Given the description of an element on the screen output the (x, y) to click on. 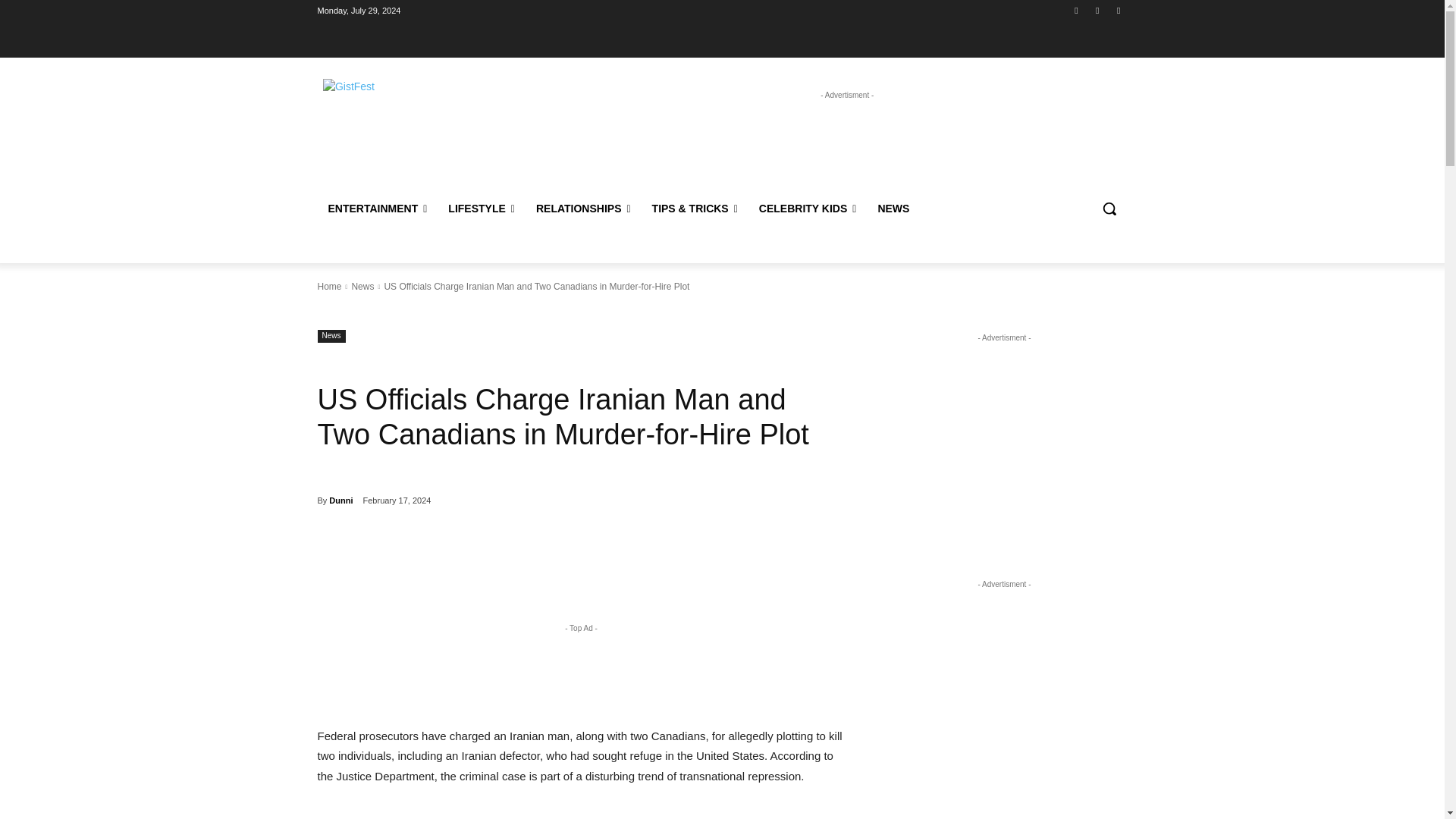
Twitter (1117, 9)
Facebook (1075, 9)
ENTERTAINMENT (377, 208)
LIFESTYLE (481, 208)
Gistfest (425, 112)
Gistfest (426, 112)
Instagram (1097, 9)
RELATIONSHIPS (583, 208)
